Given the description of an element on the screen output the (x, y) to click on. 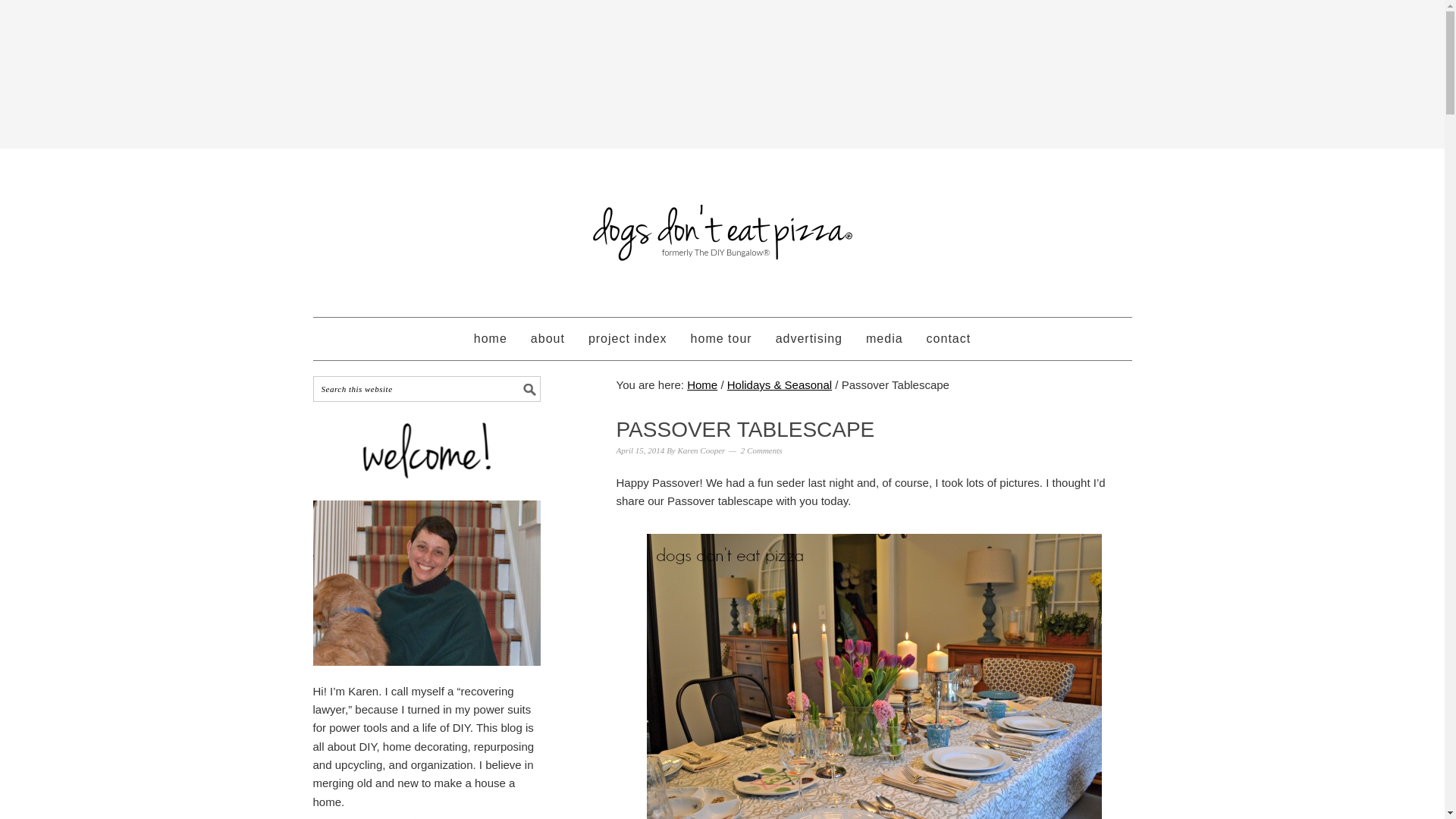
Karen Cooper (701, 450)
Passover-table-side-view - Dogs Don't Eat Pizza (873, 676)
media (884, 338)
DOGS DON'T EAT PIZZA (722, 225)
project index (627, 338)
home tour (720, 338)
about (547, 338)
2 Comments (762, 450)
Advertisement (721, 90)
advertising (808, 338)
home (490, 338)
contact (948, 338)
Home (702, 384)
